Given the description of an element on the screen output the (x, y) to click on. 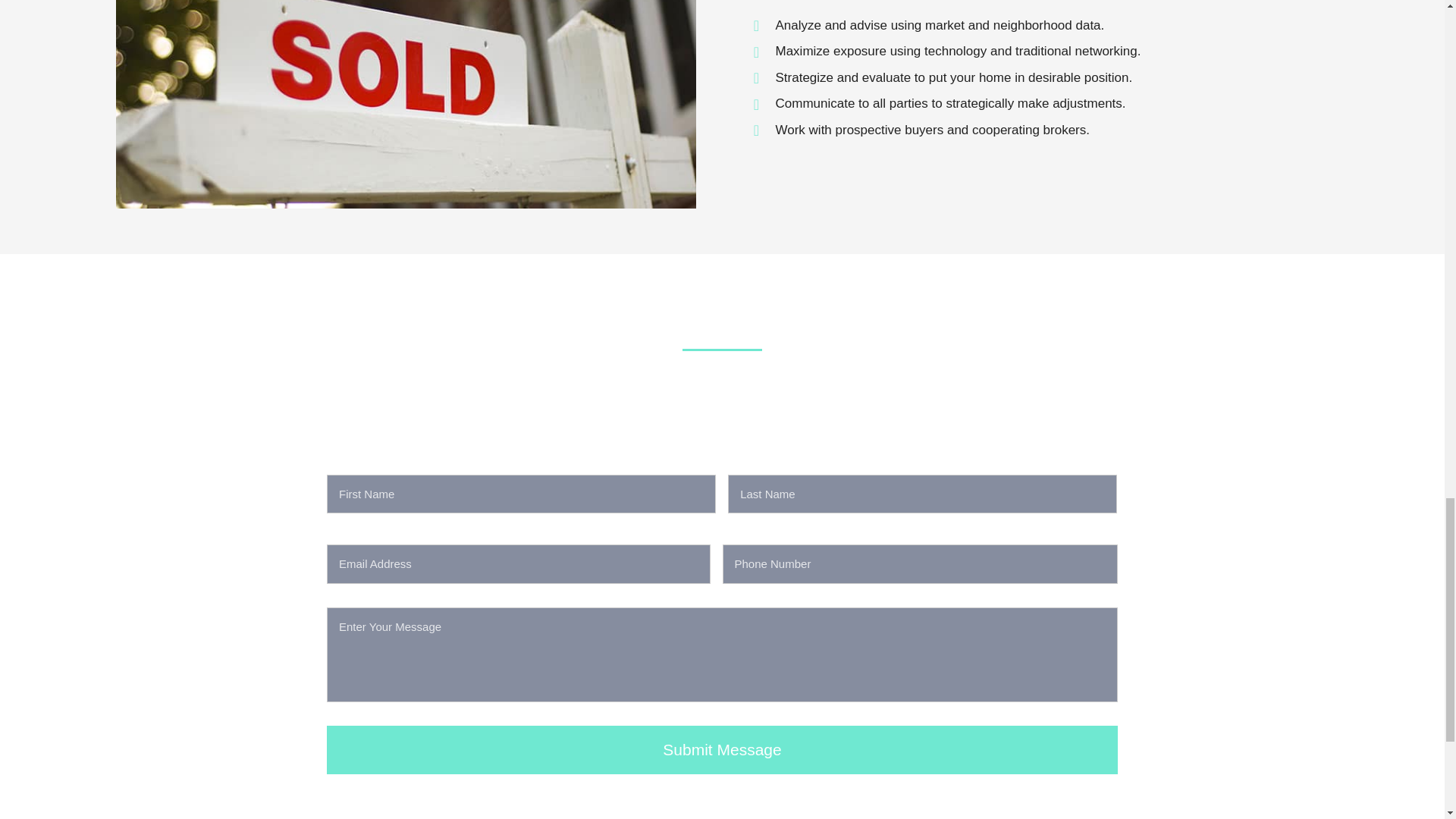
Submit Message (722, 751)
page-image-7 (405, 104)
Submit Message (722, 751)
